Given the description of an element on the screen output the (x, y) to click on. 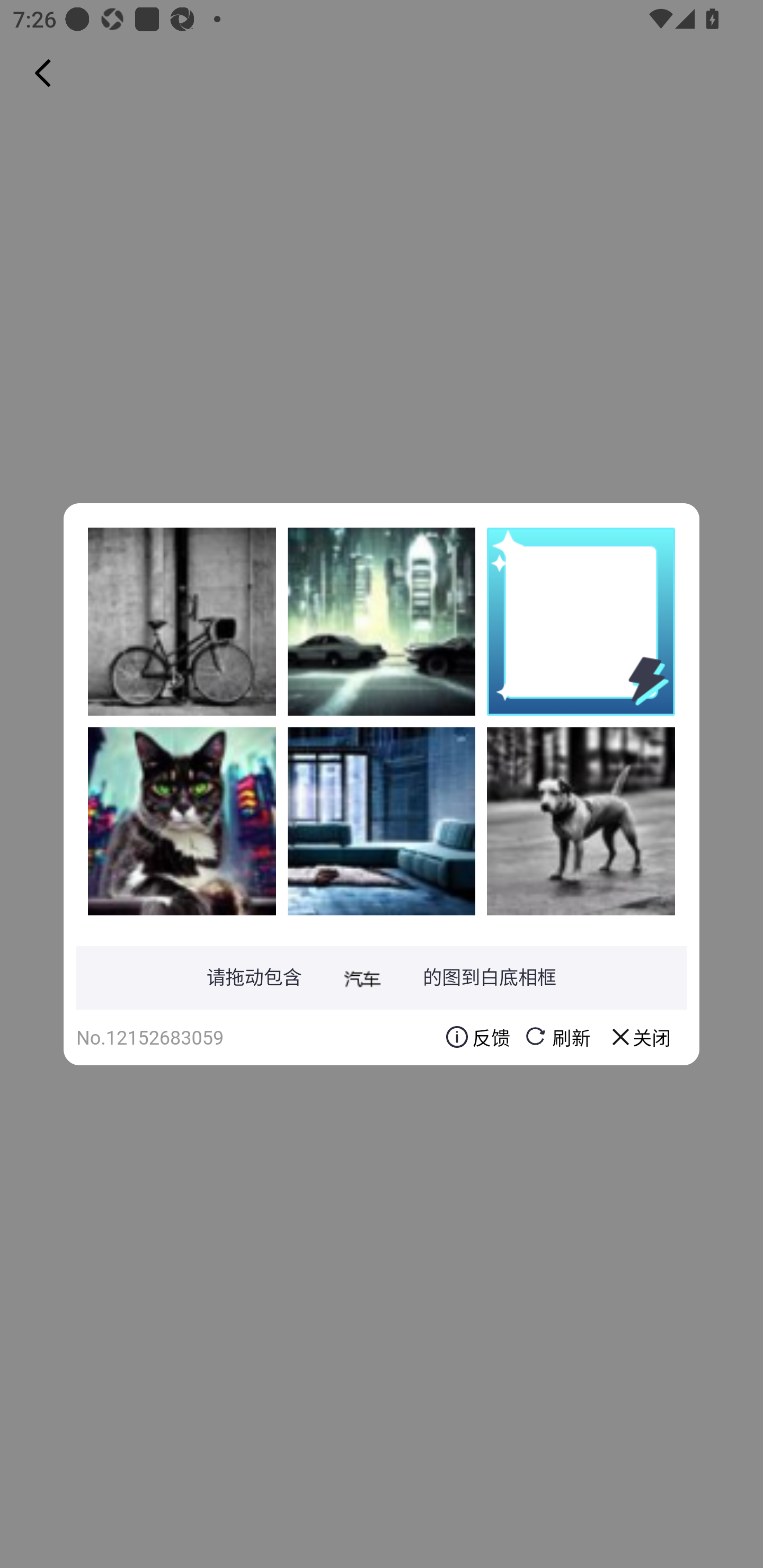
OKoQ51pJqe7hdZA6oOT5gnahKcBx8b9VC (181, 621)
5hw+fbmCwXeXUFiXBf8Ef2zbk8 (381, 621)
+ (181, 820)
AL (381, 820)
